Given the description of an element on the screen output the (x, y) to click on. 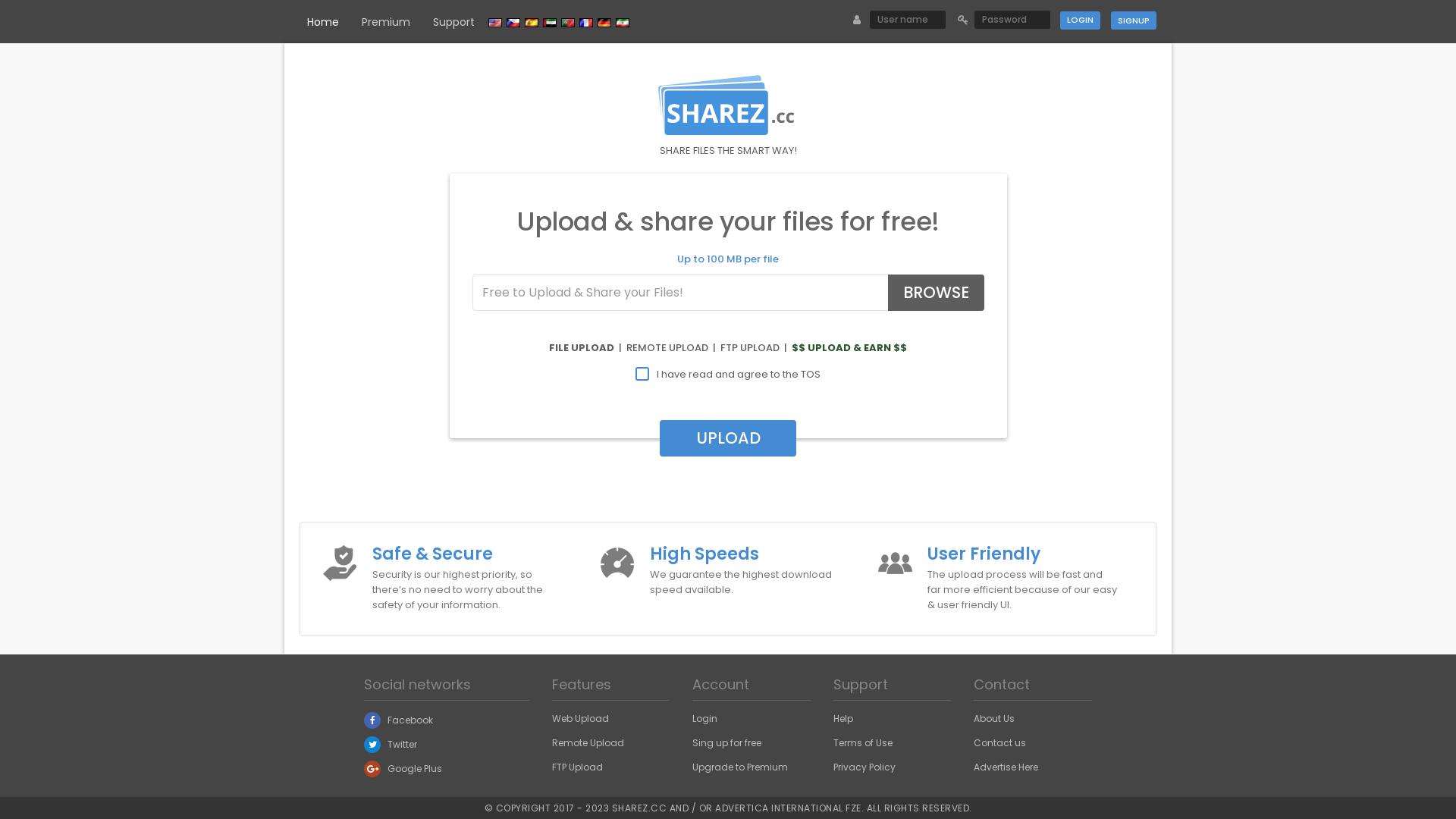
Upgrade to Premium Element type: text (739, 766)
$$ UPLOAD & EARN $$ Element type: text (848, 347)
Help Element type: text (843, 718)
FILE UPLOAD Element type: text (581, 347)
Advertise Here Element type: text (1005, 766)
About Us Element type: text (993, 718)
SIGNUP Element type: text (1133, 20)
REMOTE UPLOAD Element type: text (667, 347)
SHAREZ.CC Element type: text (638, 807)
Terms of Use Element type: text (862, 742)
FTP UPLOAD Element type: text (749, 347)
Home Element type: text (322, 21)
Sing up for free Element type: text (726, 742)
Web Upload Element type: text (580, 718)
Login Element type: text (1080, 20)
Contact us Element type: text (999, 742)
Premium Element type: text (385, 21)
Privacy Policy Element type: text (864, 766)
ADVERTICA INTERNATIONAL FZE. Element type: text (789, 807)
Remote Upload Element type: text (588, 742)
Login Element type: text (704, 718)
Support Element type: text (453, 21)
UPLOAD Element type: text (727, 438)
FTP Upload Element type: text (577, 766)
